Given the description of an element on the screen output the (x, y) to click on. 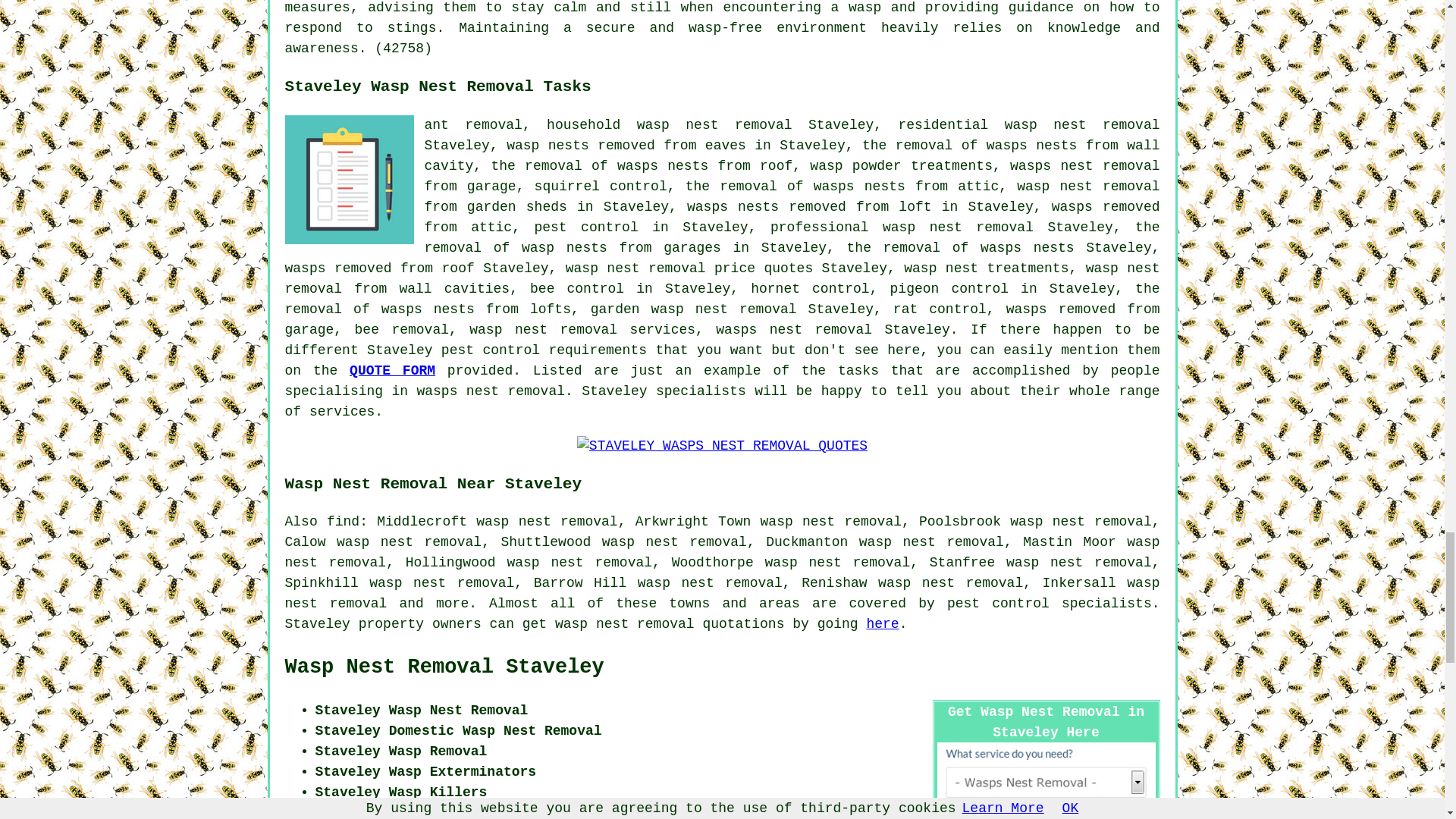
the removal of wasps nests (960, 247)
wasp nest removal (624, 623)
Wasp Nest Removal Tasks Staveley (349, 179)
STAVELEY WASPS NEST REMOVAL QUOTES (721, 445)
wasp nest treatments (986, 268)
wasp nest removal (957, 227)
